Given the description of an element on the screen output the (x, y) to click on. 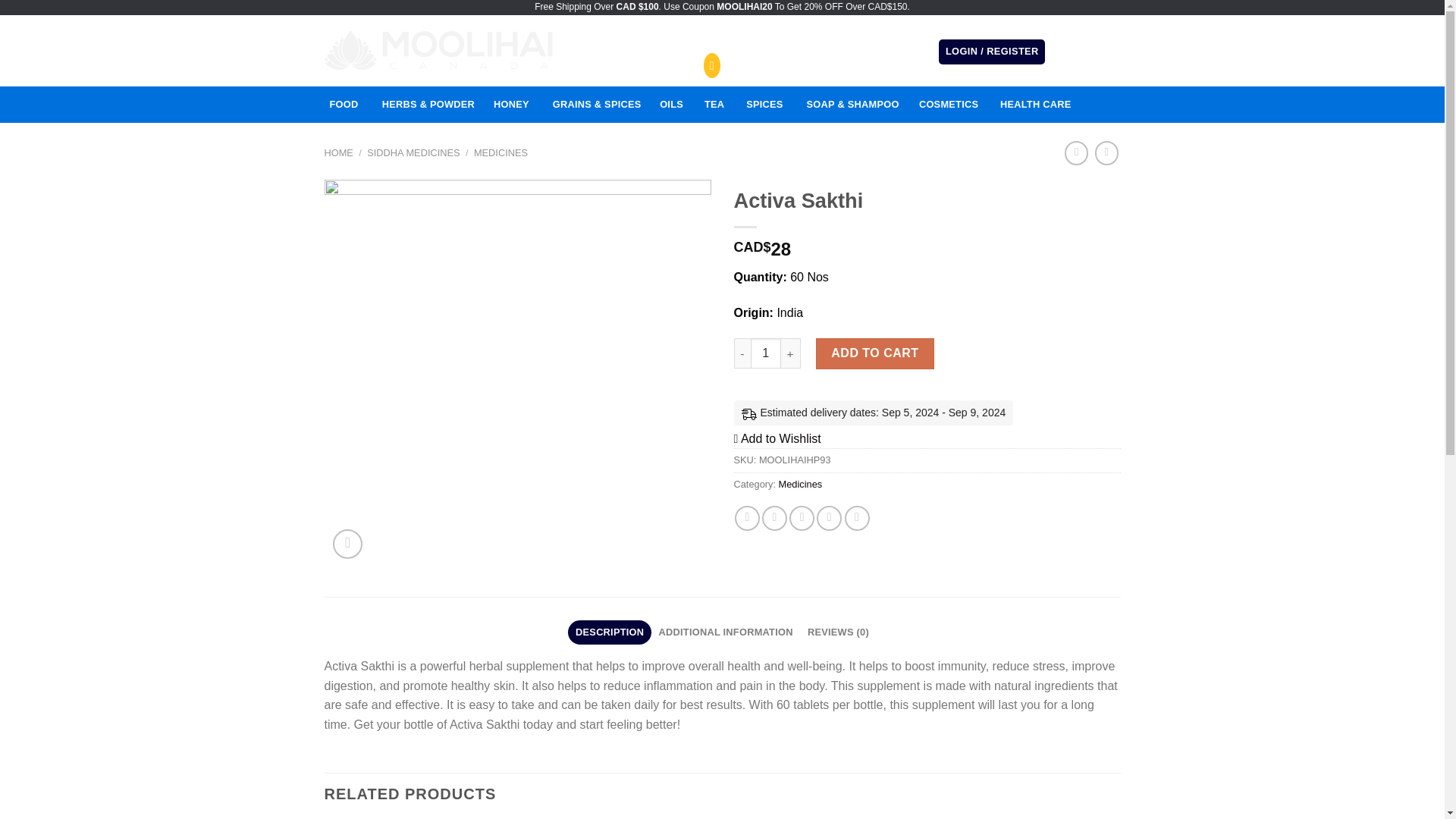
Share on Facebook (747, 518)
HOME (338, 152)
1 (765, 353)
SHOP ALL (612, 39)
Medicines (800, 483)
MEDICINES (500, 152)
Add to Wishlist (777, 438)
ADD TO CART (874, 353)
HEALTH CARE (1035, 104)
